Given the description of an element on the screen output the (x, y) to click on. 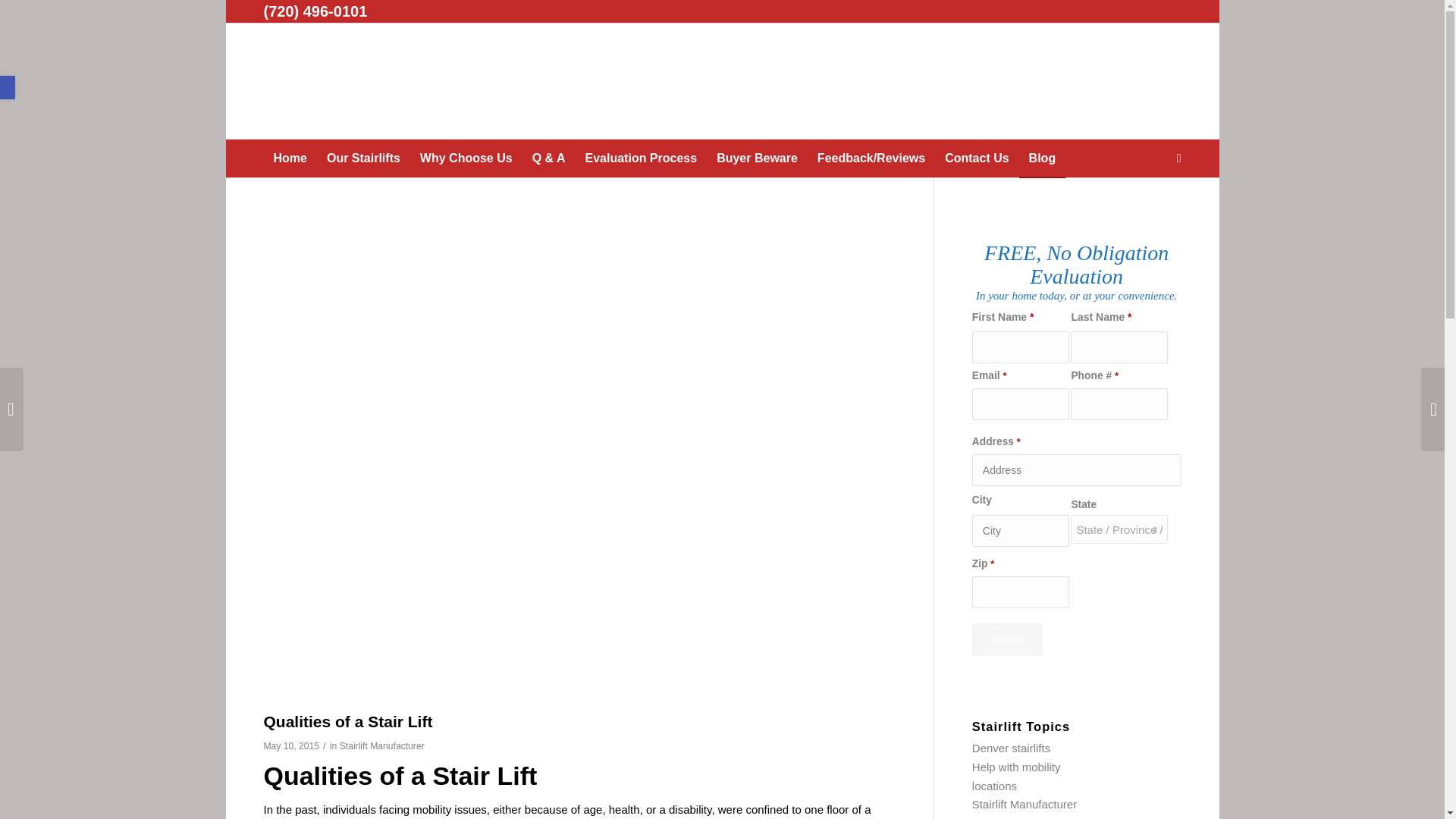
Evaluation Process (641, 158)
Our Stairlifts (363, 158)
Stairlift Manufacturer (382, 746)
Home (290, 158)
Buyer Beware (757, 158)
Why Choose Us (466, 158)
